Given the description of an element on the screen output the (x, y) to click on. 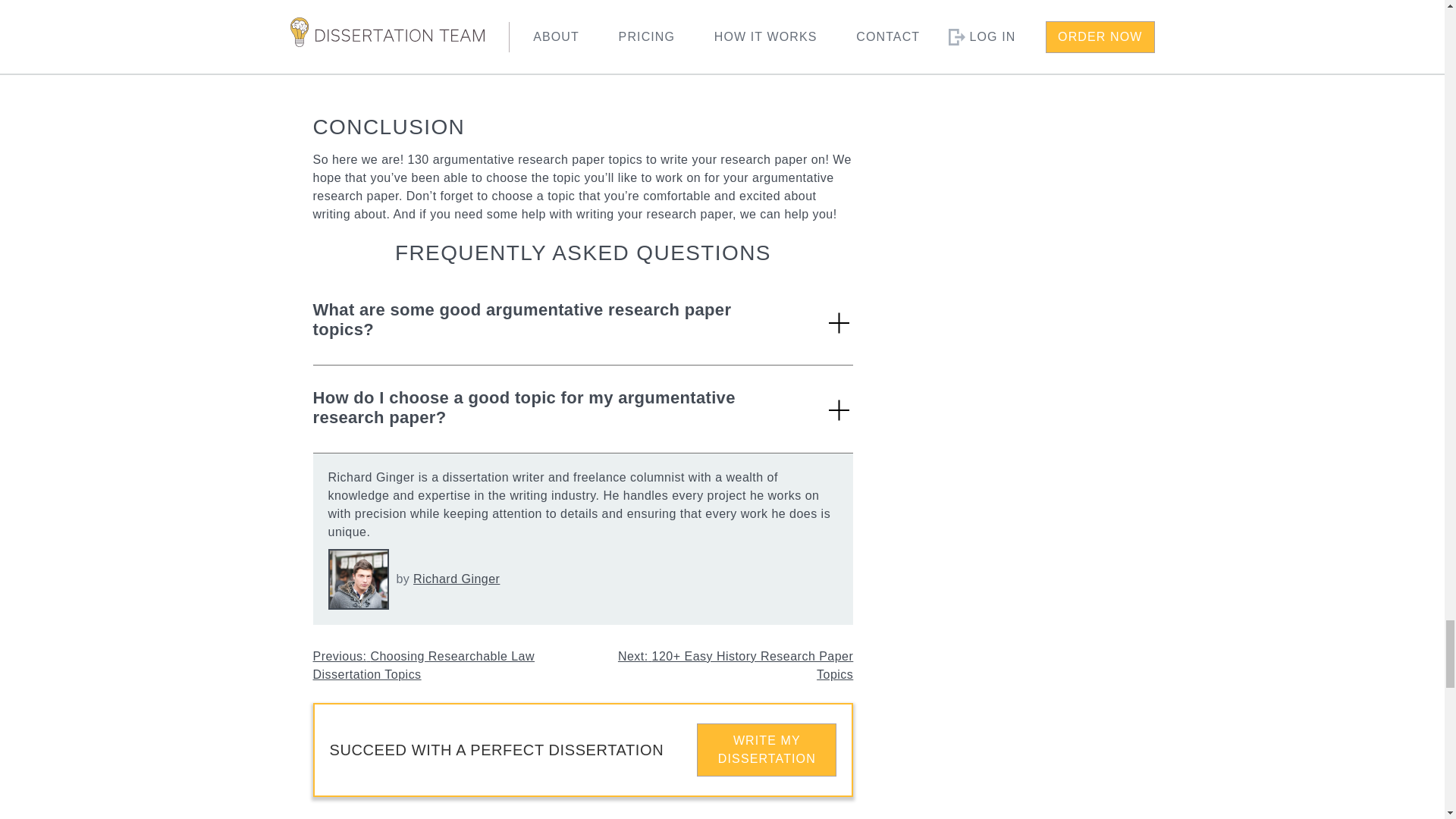
Previous: Choosing Researchable Law Dissertation Topics (423, 665)
WRITE MY DISSERTATION (766, 749)
Richard Ginger (456, 579)
